Given the description of an element on the screen output the (x, y) to click on. 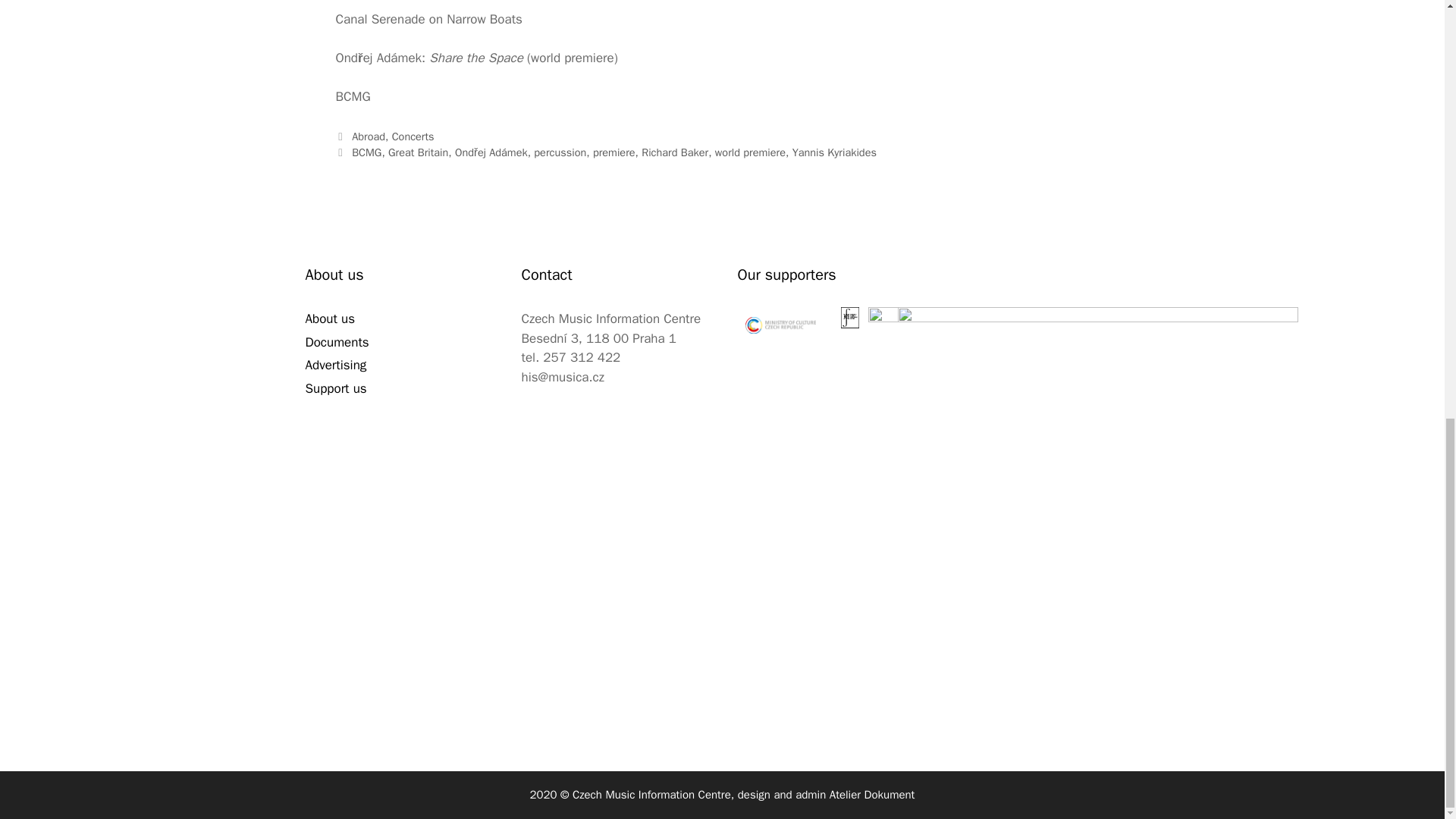
Concerts (412, 136)
Support us (335, 388)
Abroad (368, 136)
world premiere (750, 151)
Advertising (335, 365)
Yannis Kyriakides (834, 151)
percussion (560, 151)
Documents (336, 342)
BCMG (366, 151)
Great Britain (418, 151)
premiere (613, 151)
Atelier Dokument (872, 794)
About us (329, 318)
Richard Baker (674, 151)
